Given the description of an element on the screen output the (x, y) to click on. 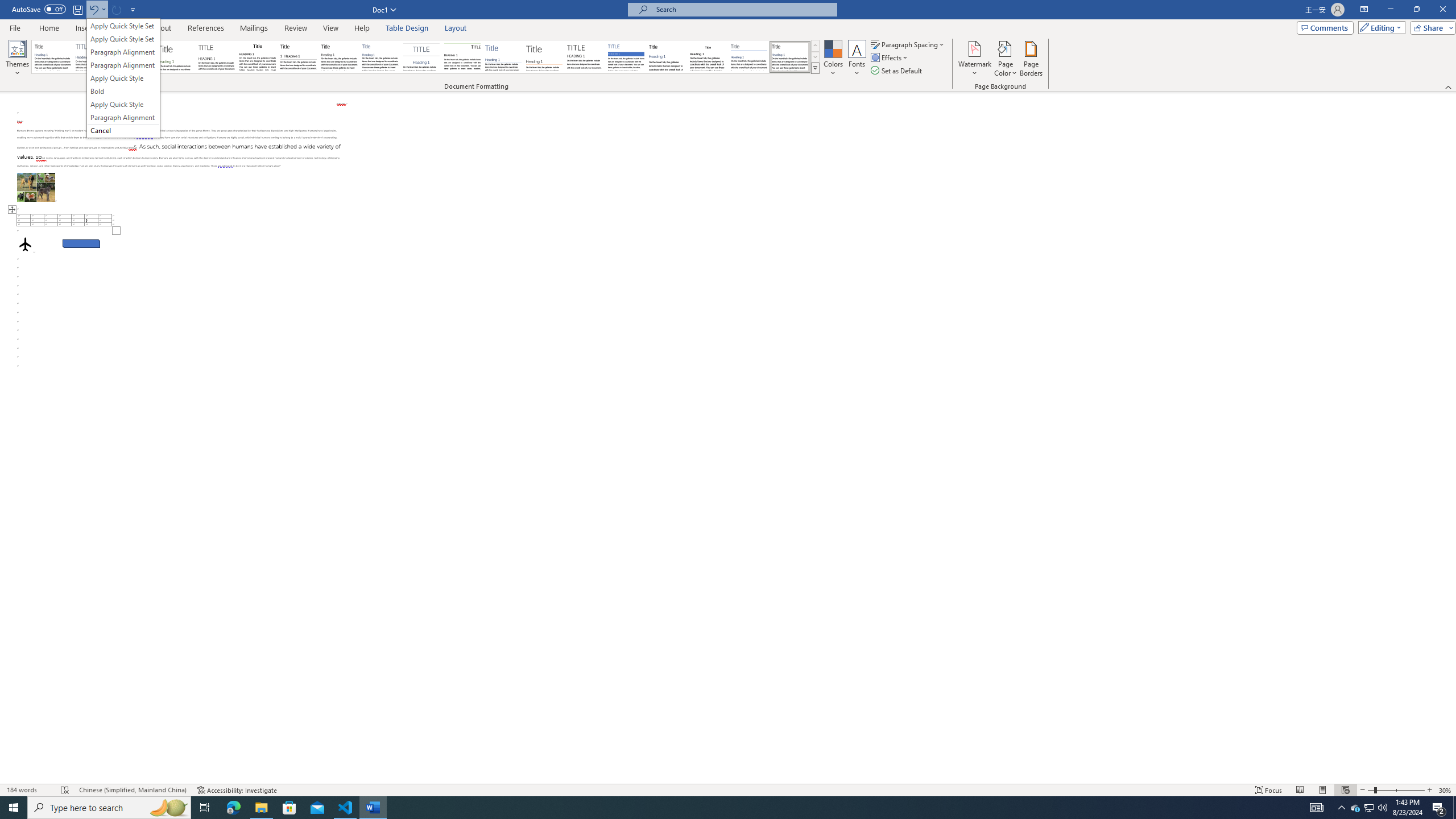
Word 2003 (707, 56)
Lines (Simple) (503, 56)
Set as Default (897, 69)
Running applications (717, 807)
Lines (Distinctive) (462, 56)
